Given the description of an element on the screen output the (x, y) to click on. 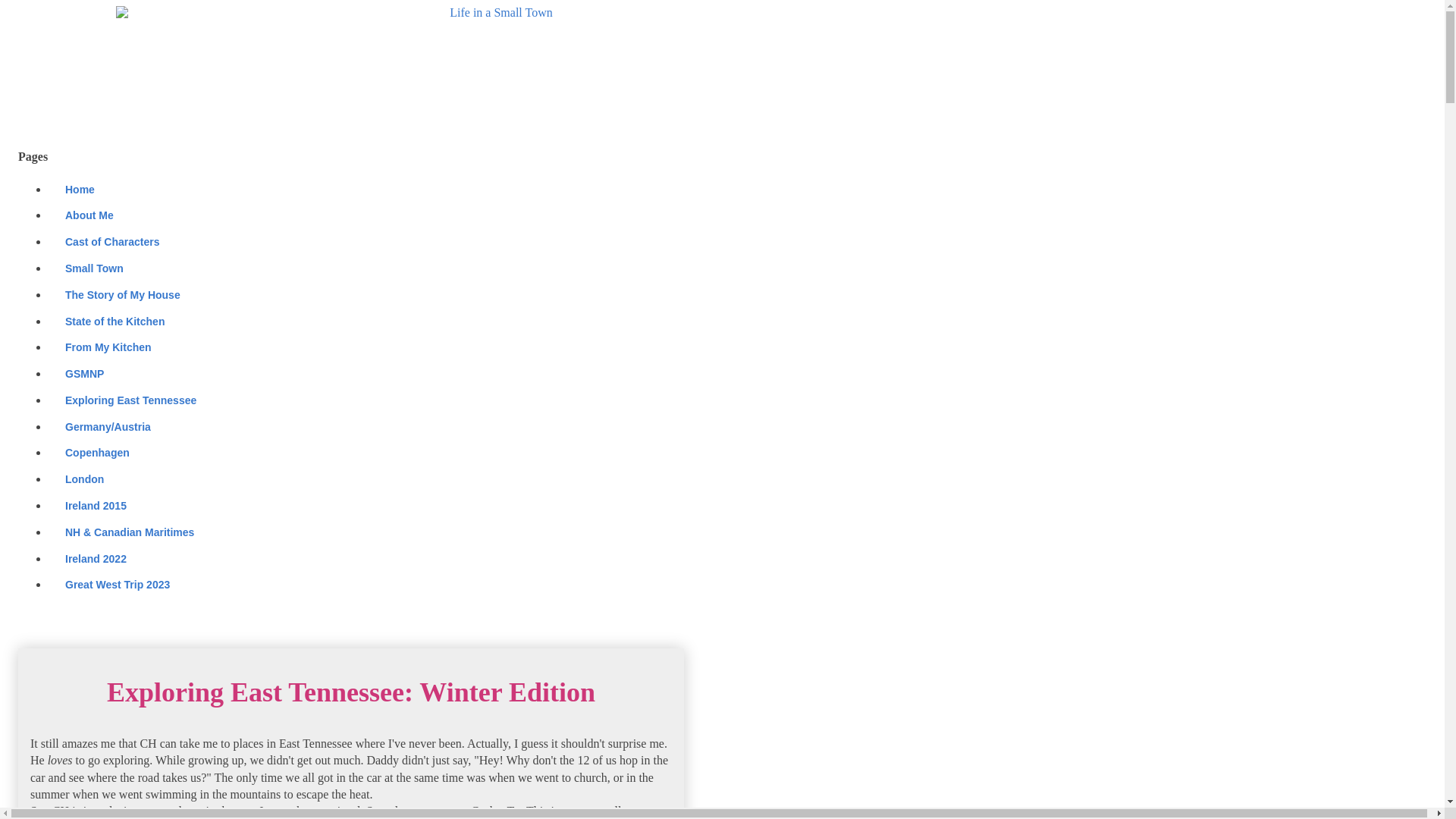
About Me (88, 215)
Cast of Characters (112, 242)
GSMNP (83, 374)
Ireland 2022 (95, 558)
Ireland 2015 (95, 506)
Copenhagen (96, 452)
Great West Trip 2023 (117, 584)
Home (79, 189)
From My Kitchen (107, 347)
State of the Kitchen (114, 320)
London (83, 479)
The Story of My House (122, 294)
Exploring East Tennessee (130, 400)
Small Town (93, 268)
